Given the description of an element on the screen output the (x, y) to click on. 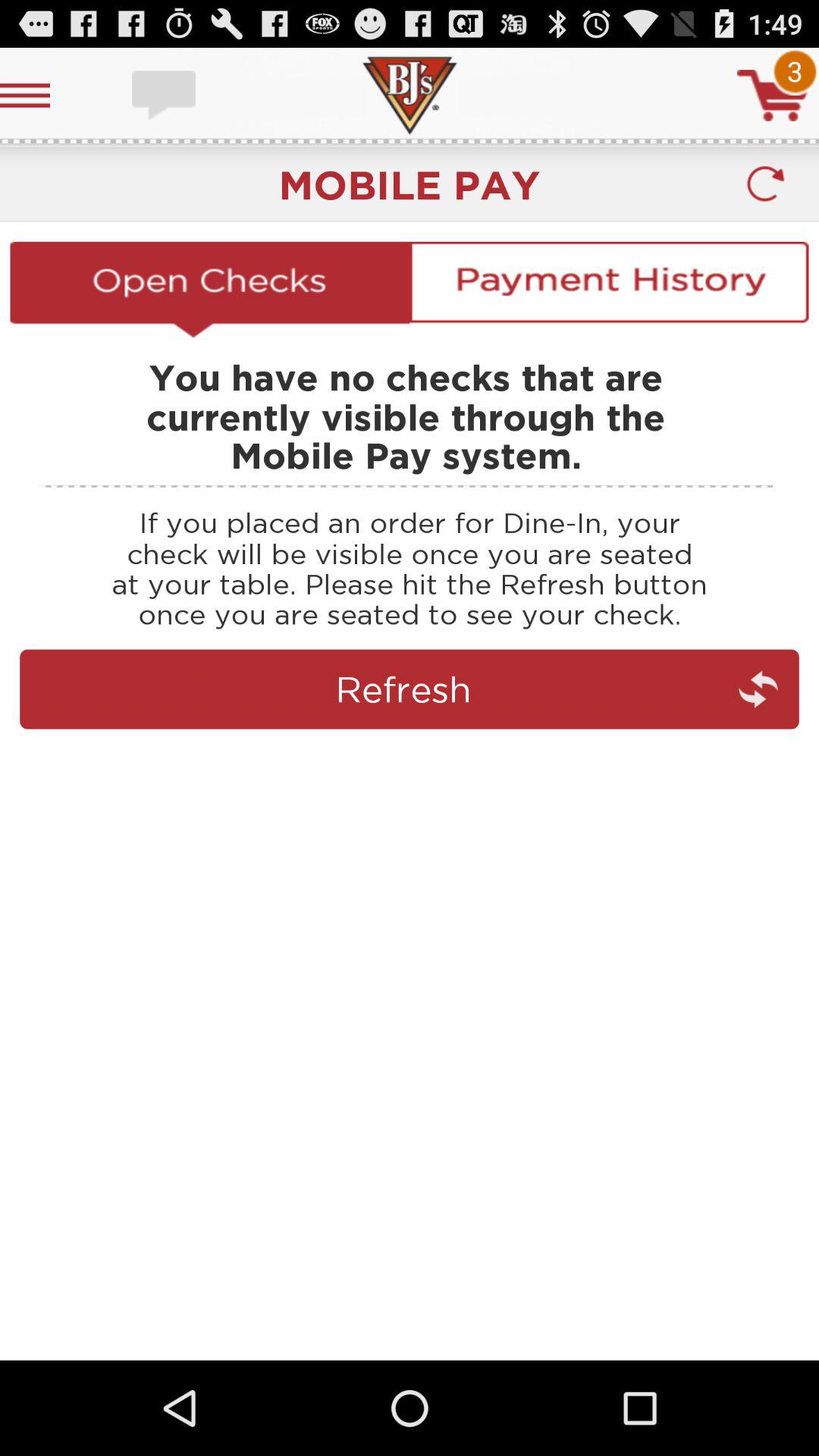
cart option (772, 95)
